Given the description of an element on the screen output the (x, y) to click on. 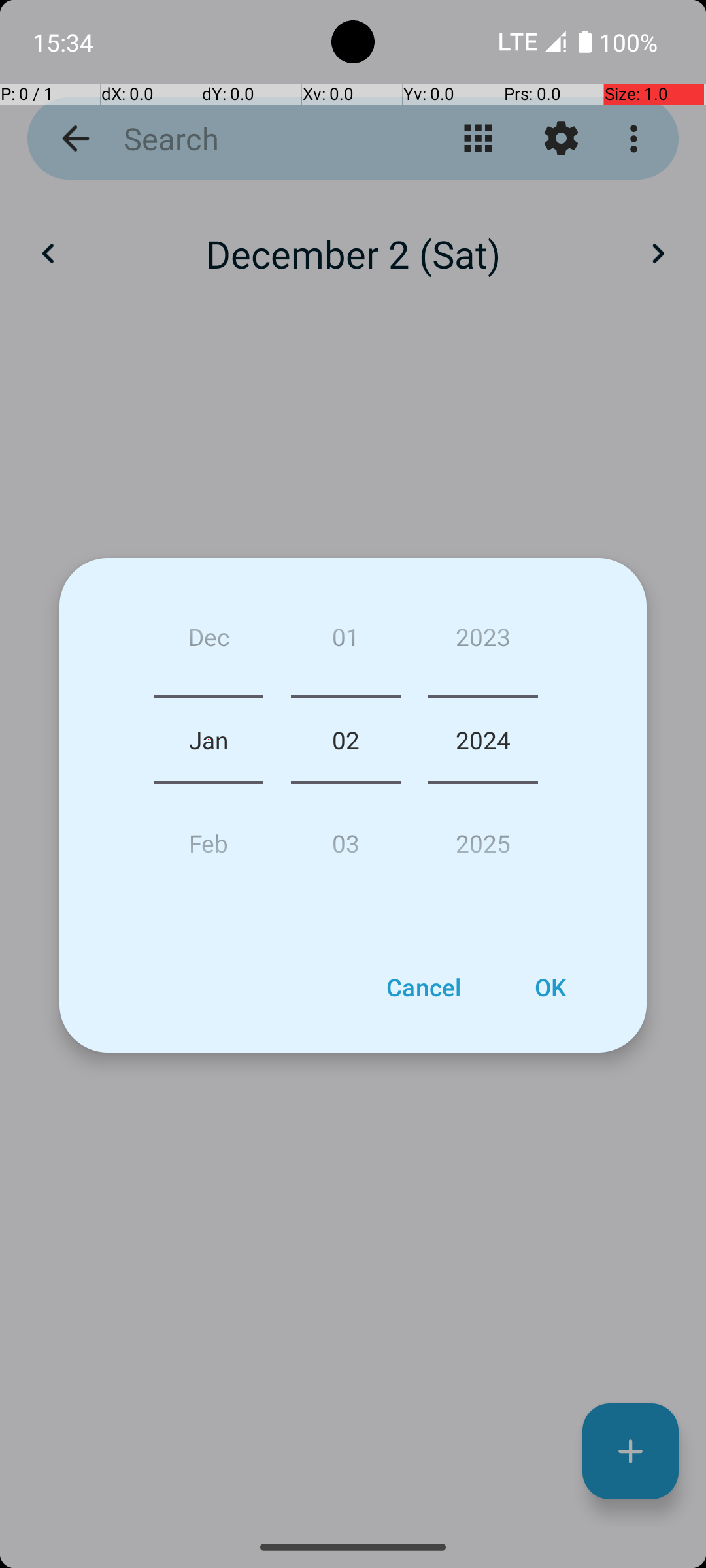
Dec Element type: android.widget.Button (208, 641)
Jan Element type: android.widget.EditText (208, 739)
Feb Element type: android.widget.Button (208, 837)
01 Element type: android.widget.Button (345, 641)
02 Element type: android.widget.EditText (345, 739)
03 Element type: android.widget.Button (345, 837)
